Given the description of an element on the screen output the (x, y) to click on. 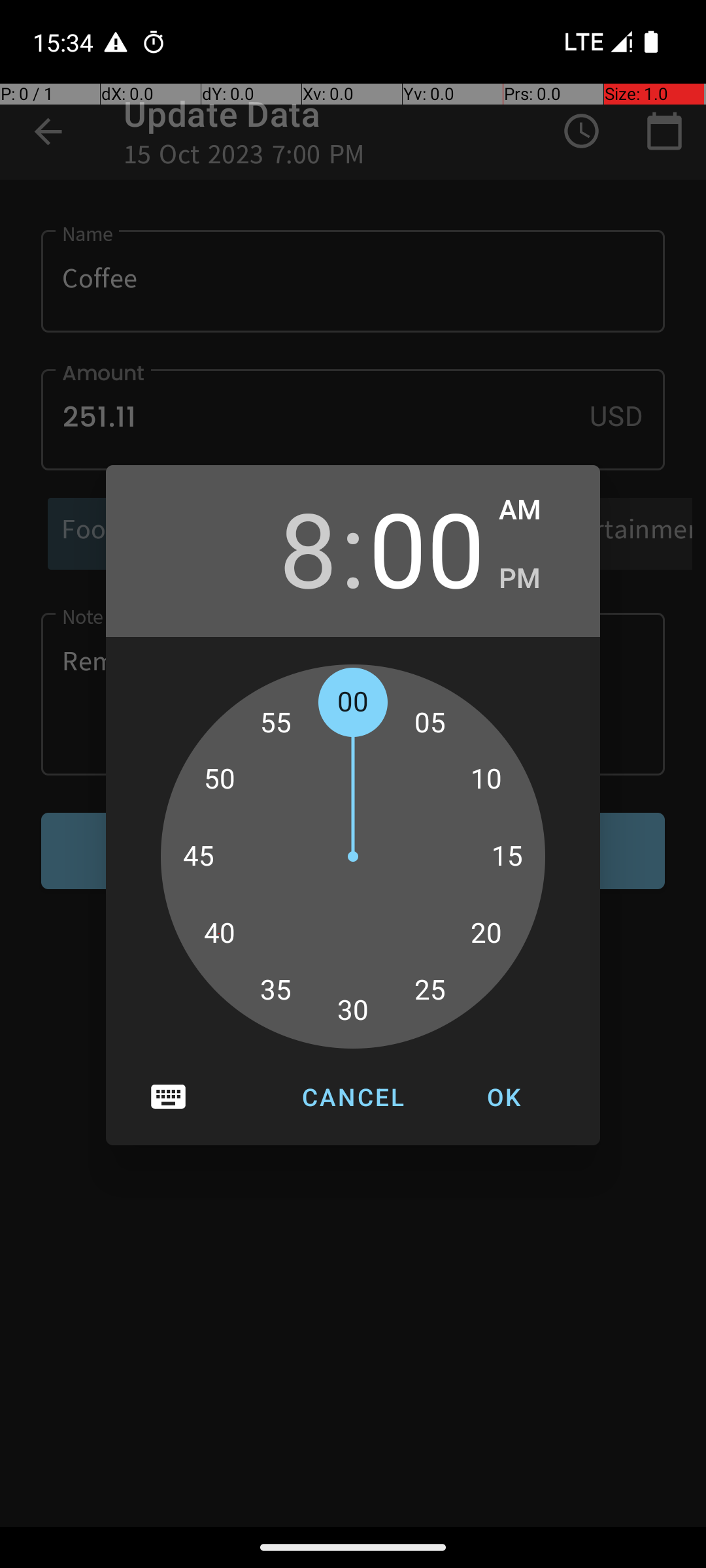
35 Element type: android.widget.RadialTimePickerView$RadialPickerTouchHelper (275, 989)
40 Element type: android.widget.RadialTimePickerView$RadialPickerTouchHelper (218, 933)
45 Element type: android.widget.RadialTimePickerView$RadialPickerTouchHelper (198, 856)
50 Element type: android.widget.RadialTimePickerView$RadialPickerTouchHelper (218, 779)
55 Element type: android.widget.RadialTimePickerView$RadialPickerTouchHelper (275, 722)
CANCEL Element type: android.widget.Button (352, 1096)
AM Element type: android.widget.RadioButton (535, 510)
PM Element type: android.widget.RadioButton (535, 578)
